Given the description of an element on the screen output the (x, y) to click on. 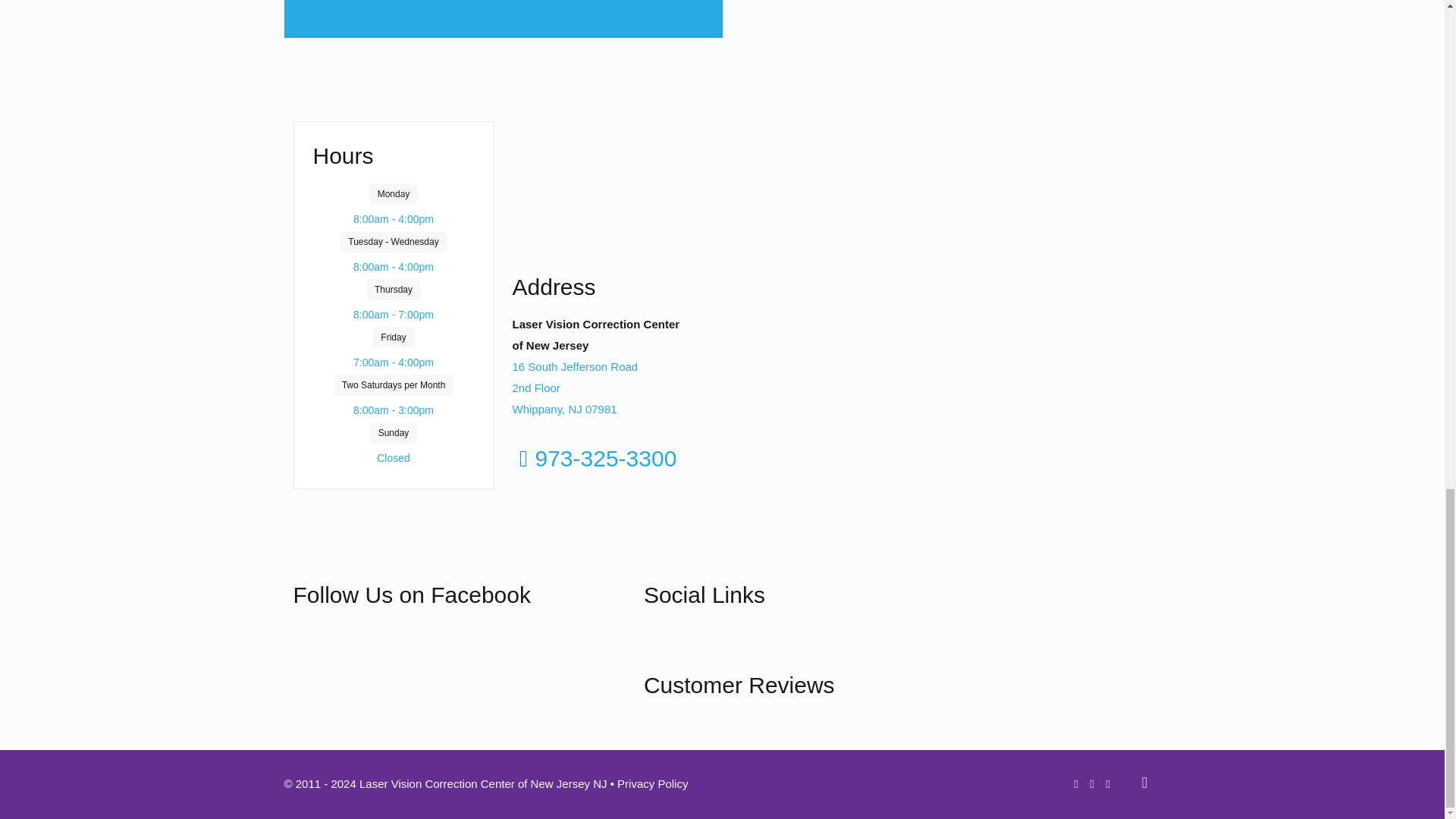
YouTube (783, 643)
Twitter (730, 643)
LinkedIn (836, 643)
Facebook (676, 643)
